Given the description of an element on the screen output the (x, y) to click on. 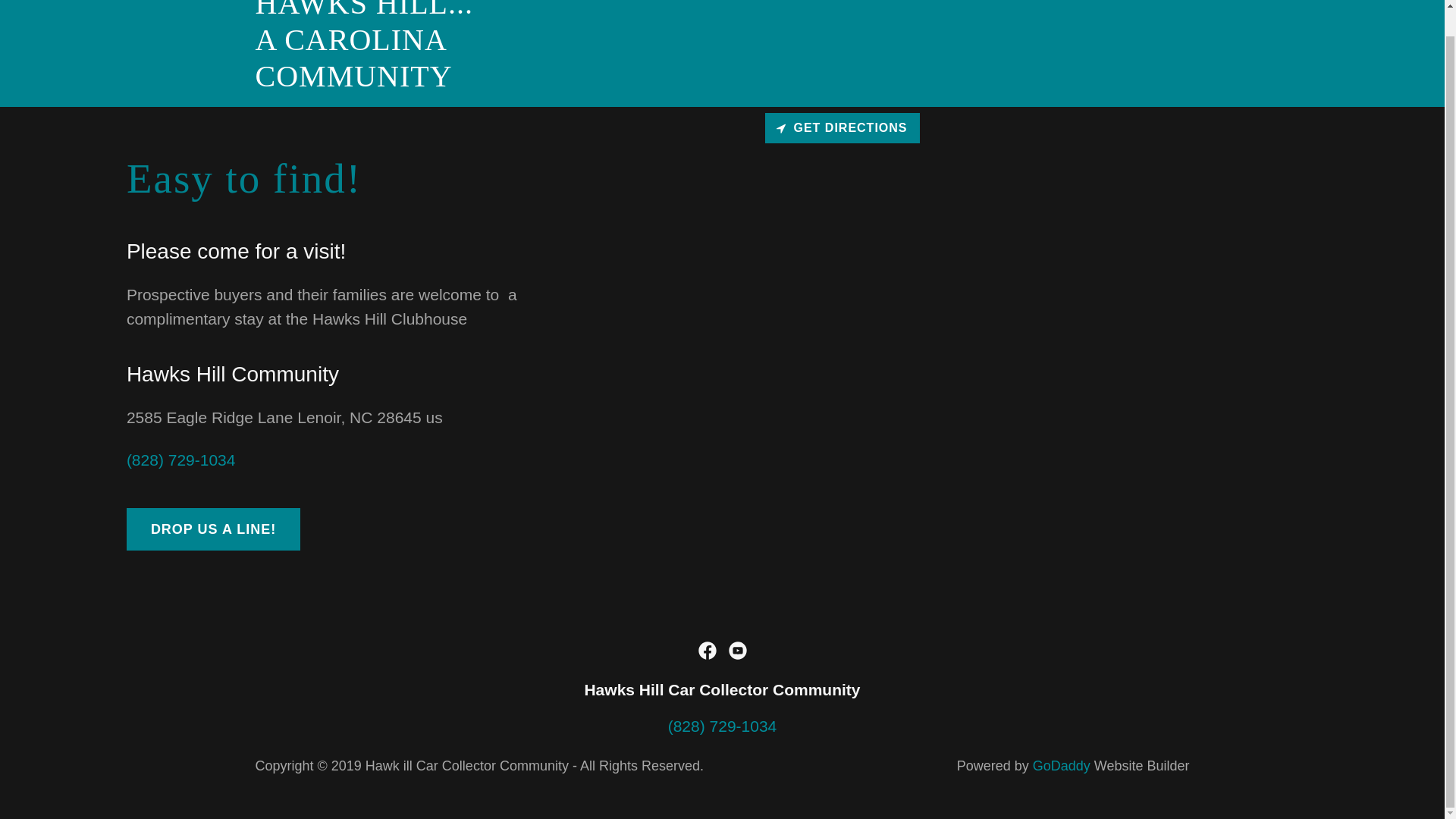
DROP US A LINE! (212, 528)
GET DIRECTIONS (417, 80)
